Given the description of an element on the screen output the (x, y) to click on. 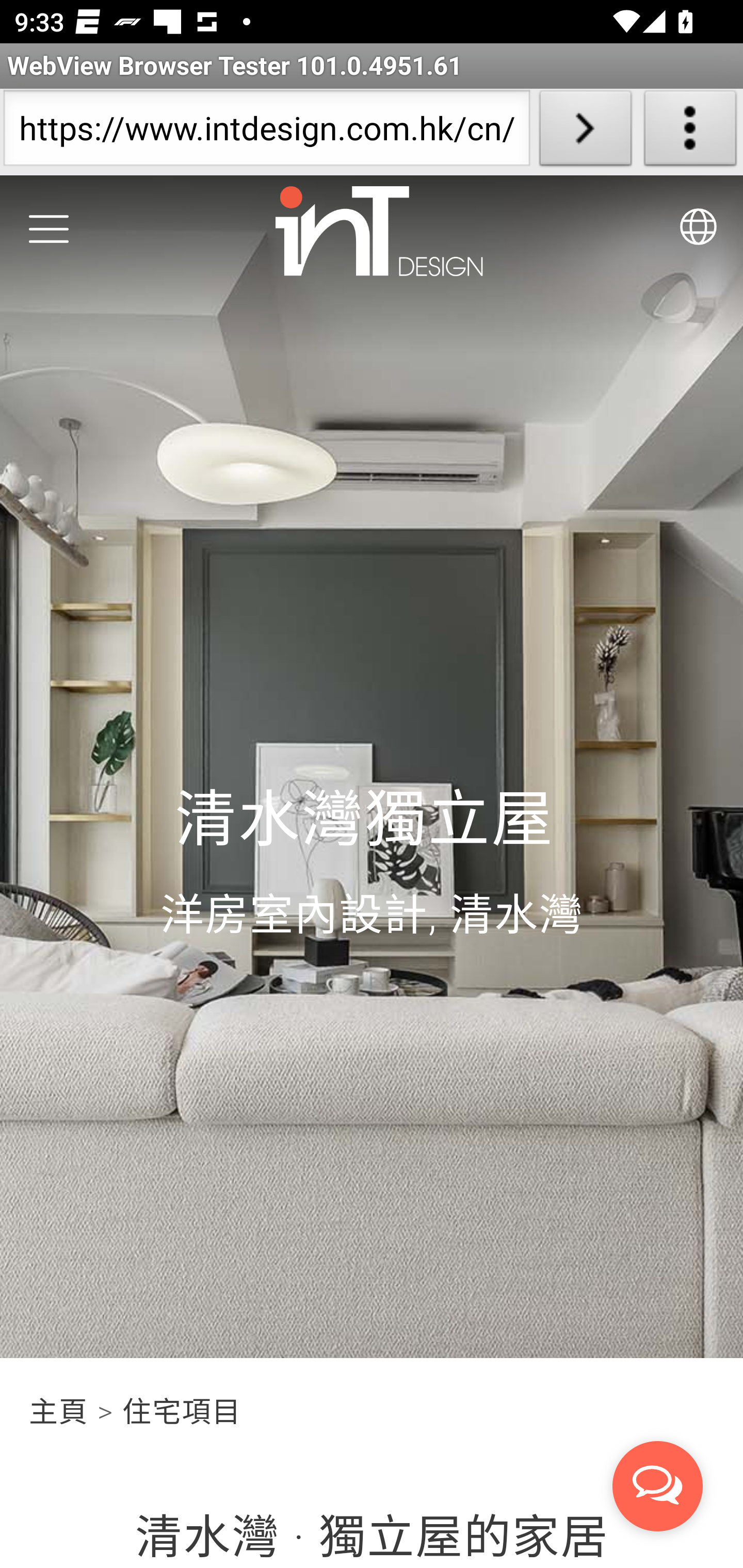
Load URL (585, 132)
About WebView (690, 132)
主頁 (59, 1411)
住宅項目 (181, 1411)
Open messengers list (657, 1487)
